Given the description of an element on the screen output the (x, y) to click on. 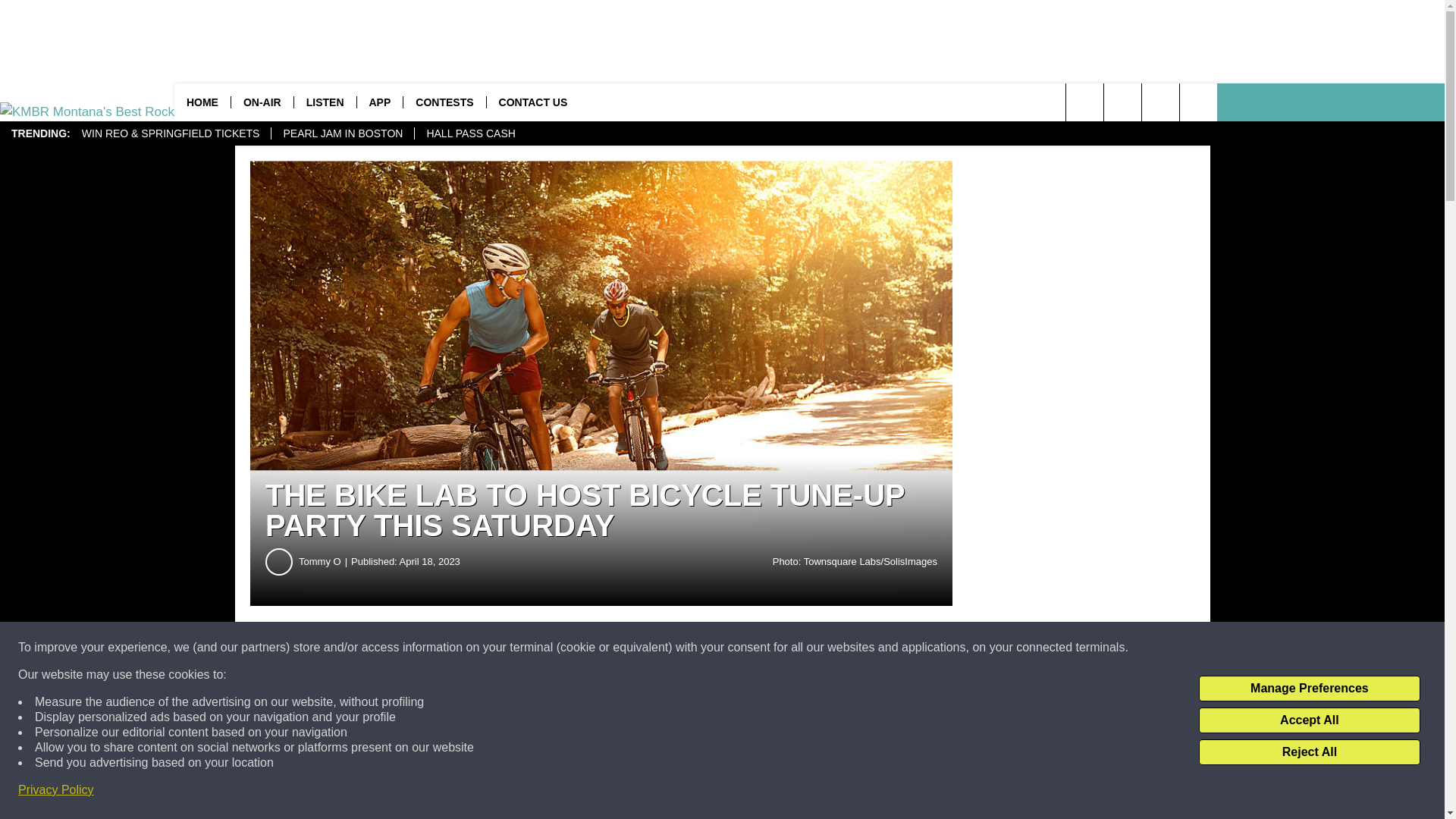
APP (379, 102)
Share on Twitter (741, 647)
Accept All (1309, 720)
Reject All (1309, 751)
Privacy Policy (55, 789)
HALL PASS CASH (470, 133)
ON-AIR (262, 102)
CONTESTS (443, 102)
CONTACT US (532, 102)
Manage Preferences (1309, 688)
